Given the description of an element on the screen output the (x, y) to click on. 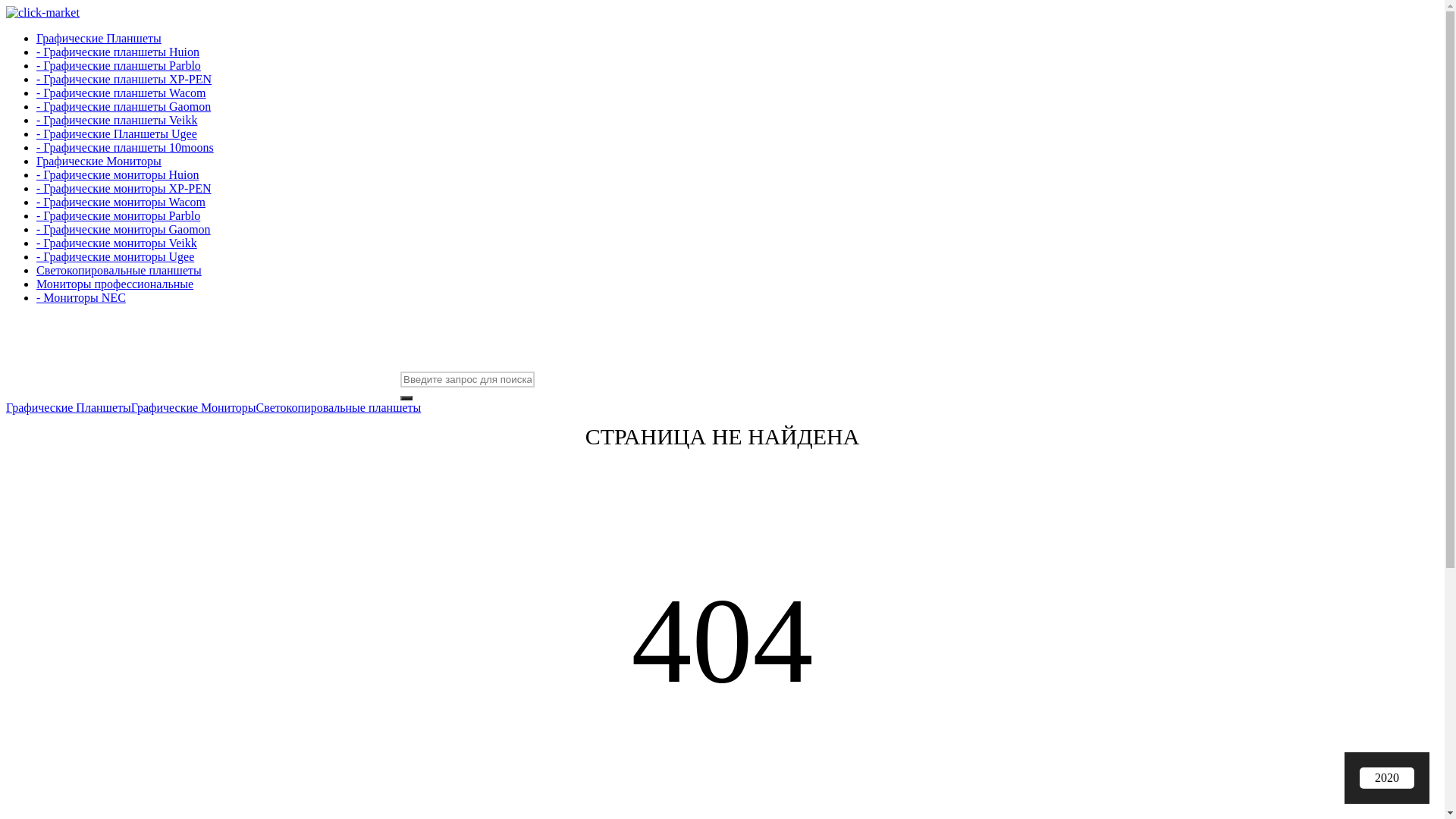
click-market Element type: hover (42, 12)
